Given the description of an element on the screen output the (x, y) to click on. 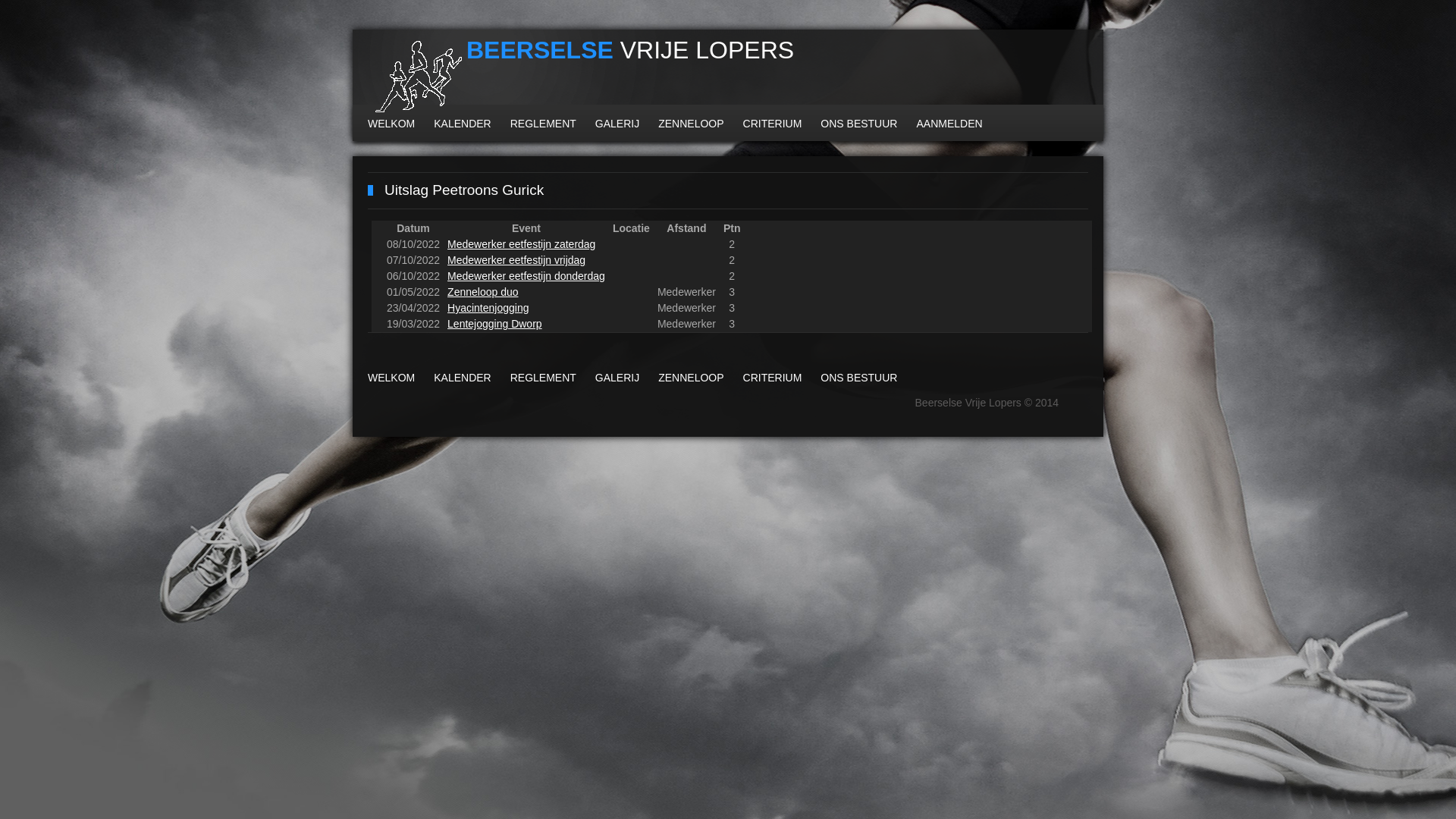
CRITERIUM Element type: text (772, 123)
ZENNELOOP Element type: text (690, 377)
GALERIJ Element type: text (617, 123)
REGLEMENT Element type: text (543, 123)
ONS BESTUUR Element type: text (858, 377)
Medewerker eetfestijn vrijdag Element type: text (516, 260)
AANMELDEN Element type: text (949, 123)
KALENDER Element type: text (461, 377)
Medewerker eetfestijn donderdag Element type: text (526, 275)
REGLEMENT Element type: text (543, 377)
BEERSELSE VRIJE LOPERS Element type: text (602, 78)
Lentejogging Dworp Element type: text (494, 323)
Medewerker eetfestijn zaterdag Element type: text (521, 244)
GALERIJ Element type: text (617, 377)
WELKOM Element type: text (390, 377)
ONS BESTUUR Element type: text (858, 123)
WELKOM Element type: text (390, 123)
CRITERIUM Element type: text (772, 377)
KALENDER Element type: text (461, 123)
Zenneloop duo Element type: text (482, 291)
Hyacintenjogging Element type: text (487, 307)
ZENNELOOP Element type: text (690, 123)
